Given the description of an element on the screen output the (x, y) to click on. 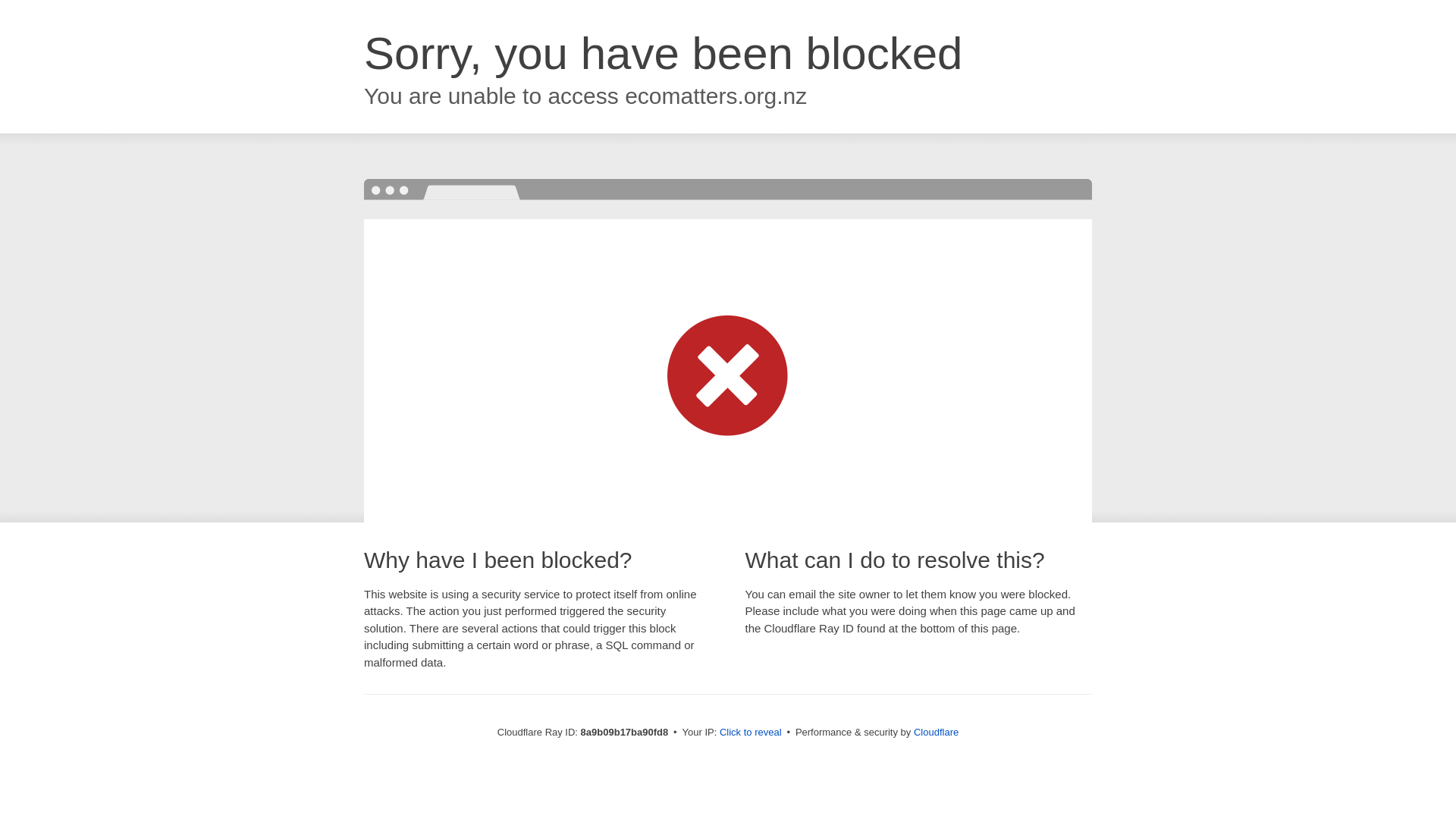
Cloudflare (936, 731)
Click to reveal (750, 732)
